Given the description of an element on the screen output the (x, y) to click on. 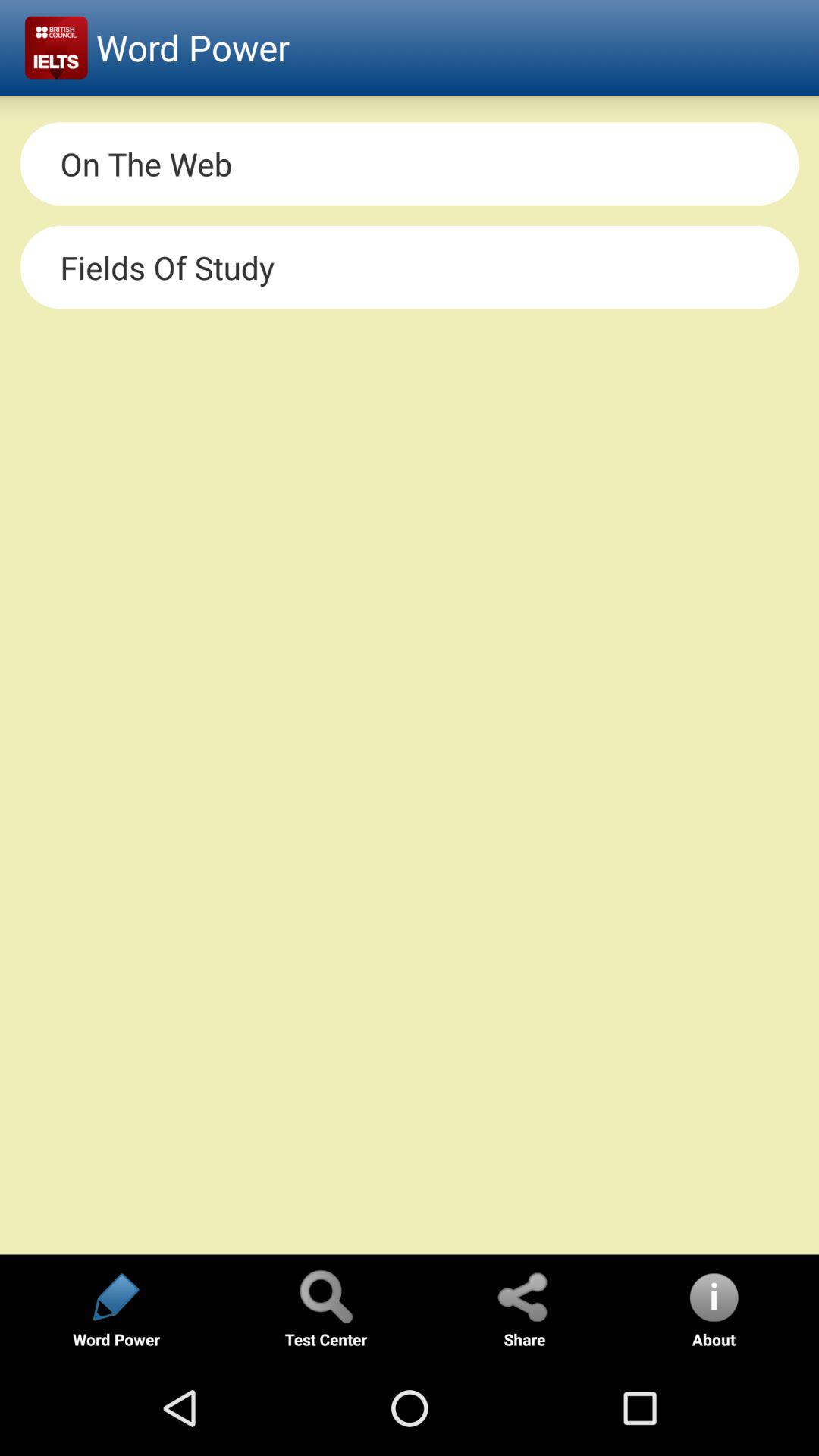
flip until on the web (409, 163)
